Given the description of an element on the screen output the (x, y) to click on. 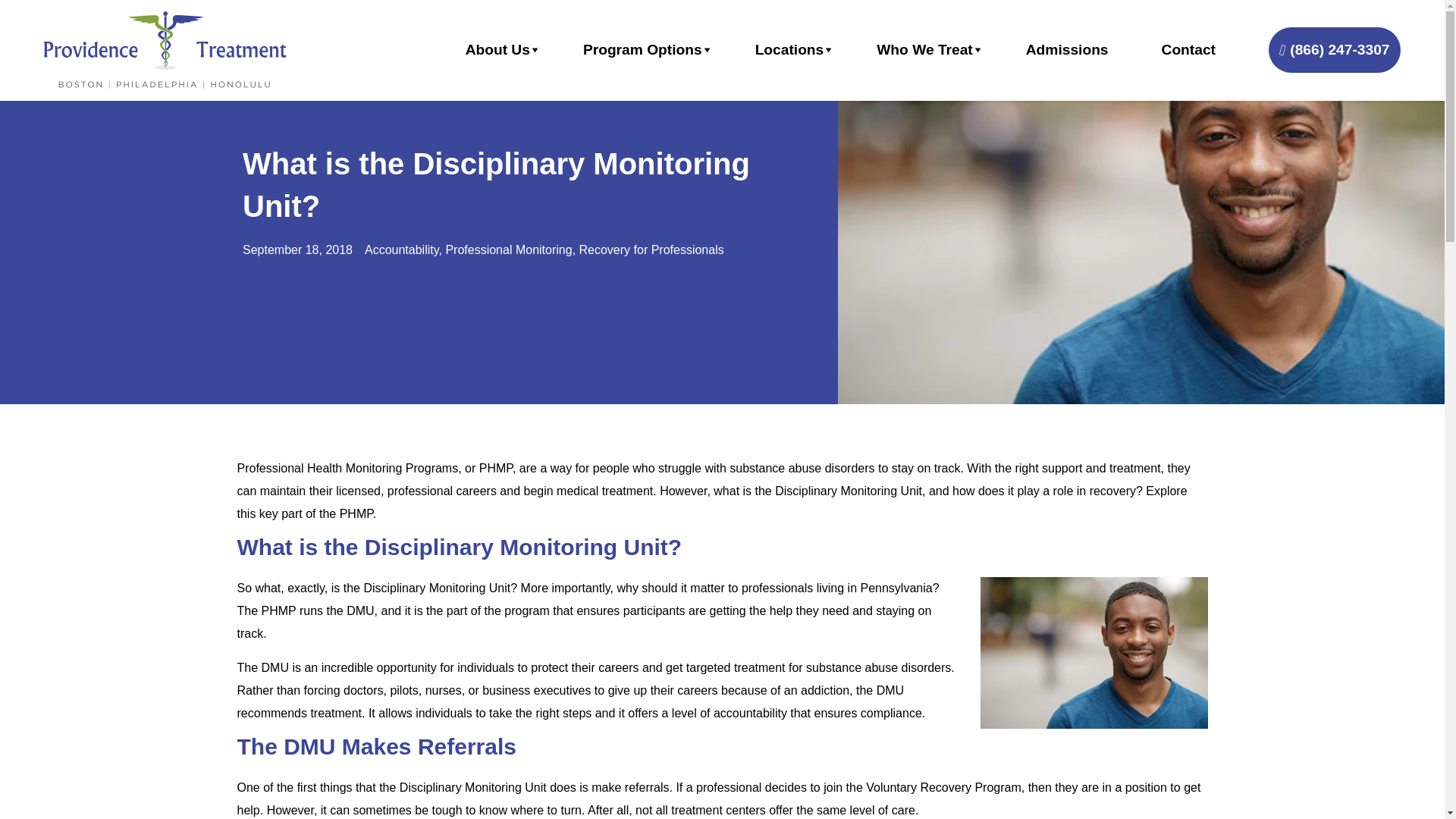
Locations (789, 49)
Program Options (642, 49)
About Us (497, 49)
